Given the description of an element on the screen output the (x, y) to click on. 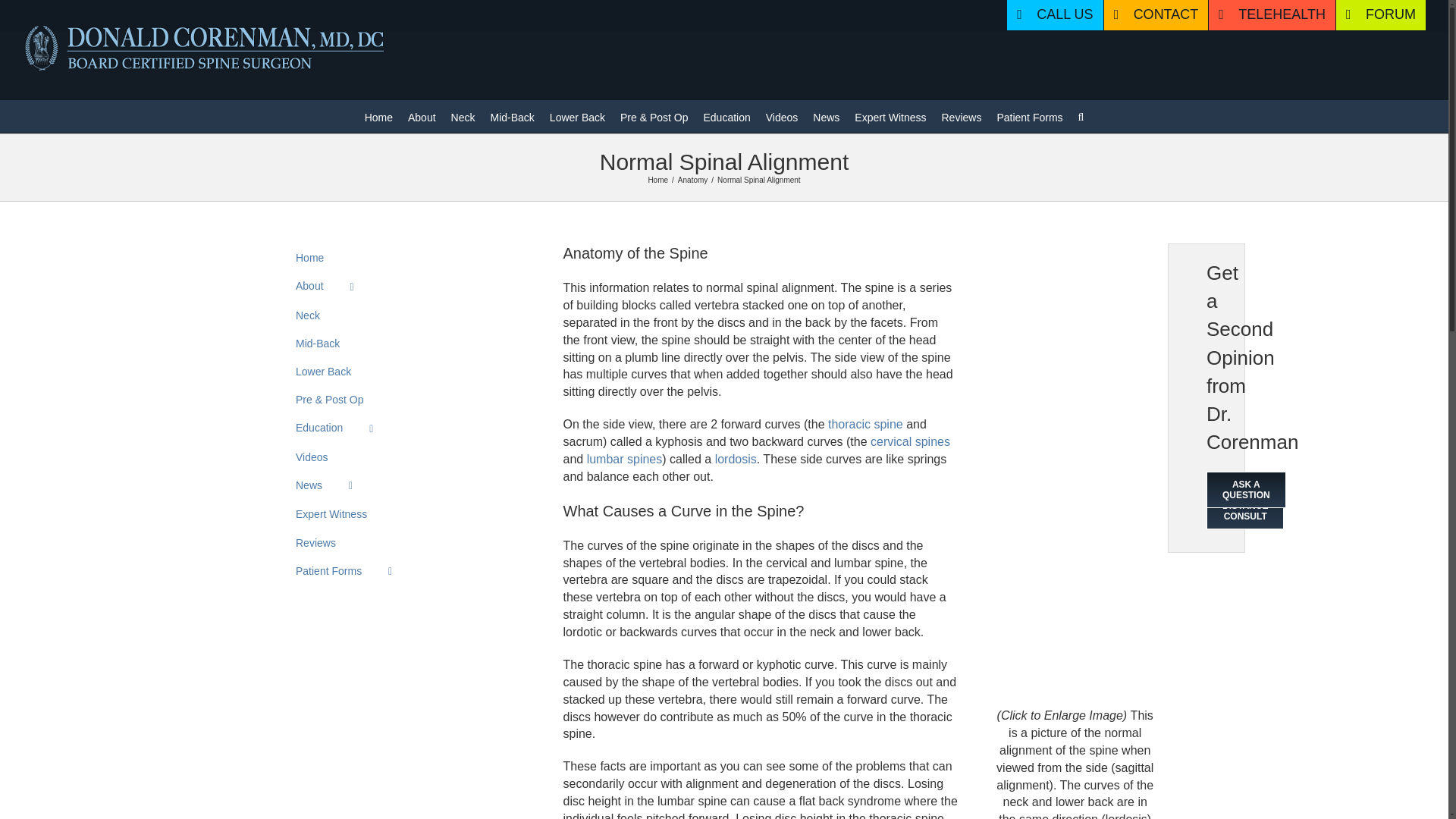
Education (727, 115)
Anatomy of Thoracic Spine (865, 423)
Lordosis (735, 459)
Reviews (961, 115)
Expert Witness (890, 115)
Mid-Back (511, 115)
Patient Forms (1028, 115)
Videos (781, 115)
Anatomy of the Cervical Spine (910, 440)
CONTACT (1155, 15)
Lower Back (577, 115)
CALL US (1054, 15)
FORUM (1380, 15)
Anatomy of Lumbar Spine (624, 459)
TELEHEALTH (1271, 15)
